Given the description of an element on the screen output the (x, y) to click on. 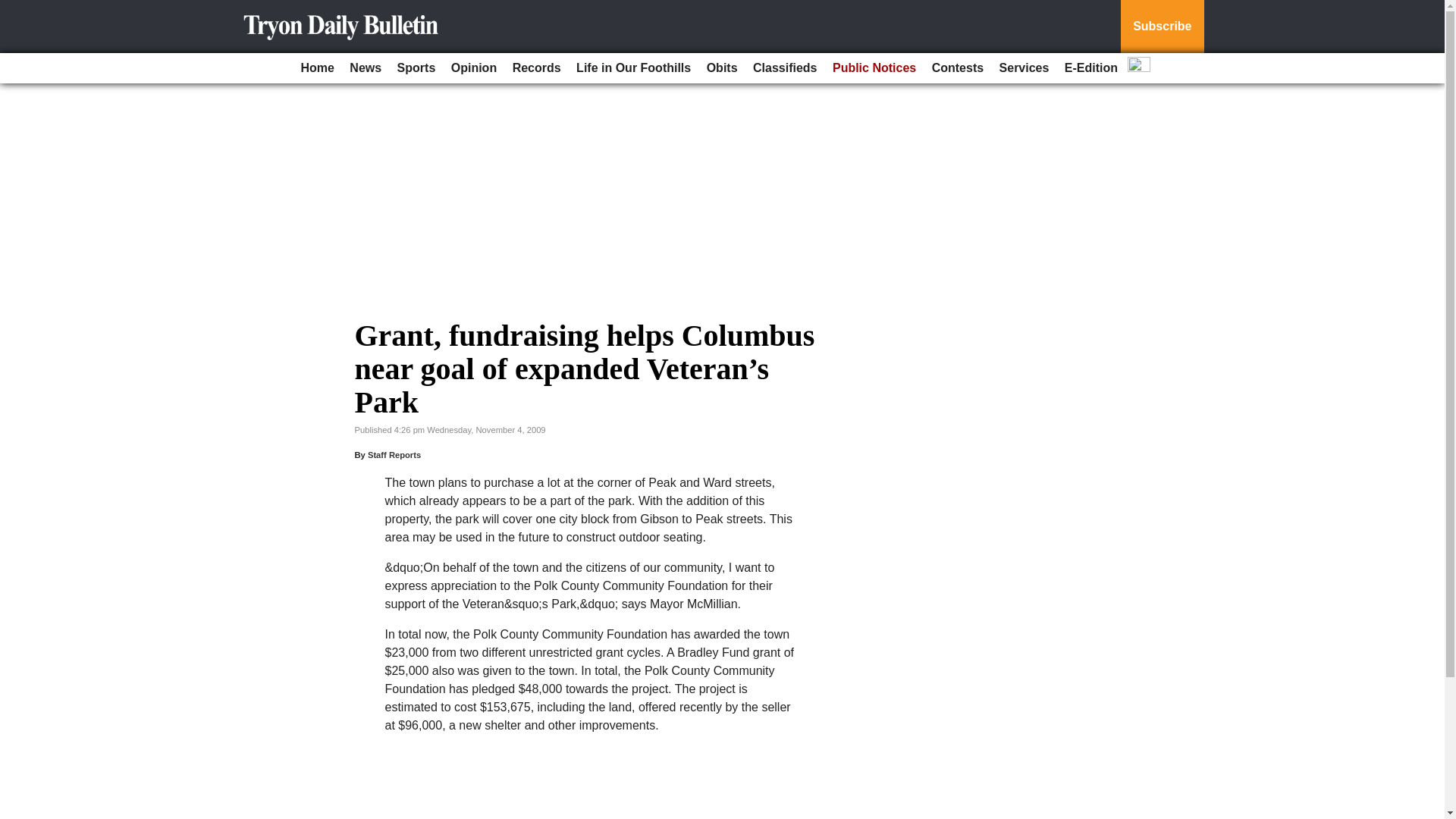
Public Notices (874, 68)
E-Edition (1091, 68)
Sports (416, 68)
Services (1023, 68)
Staff Reports (394, 454)
Subscribe (1162, 26)
Obits (722, 68)
Go (13, 9)
Life in Our Foothills (633, 68)
Opinion (473, 68)
News (365, 68)
Contests (958, 68)
Home (316, 68)
Records (536, 68)
Classifieds (784, 68)
